Given the description of an element on the screen output the (x, y) to click on. 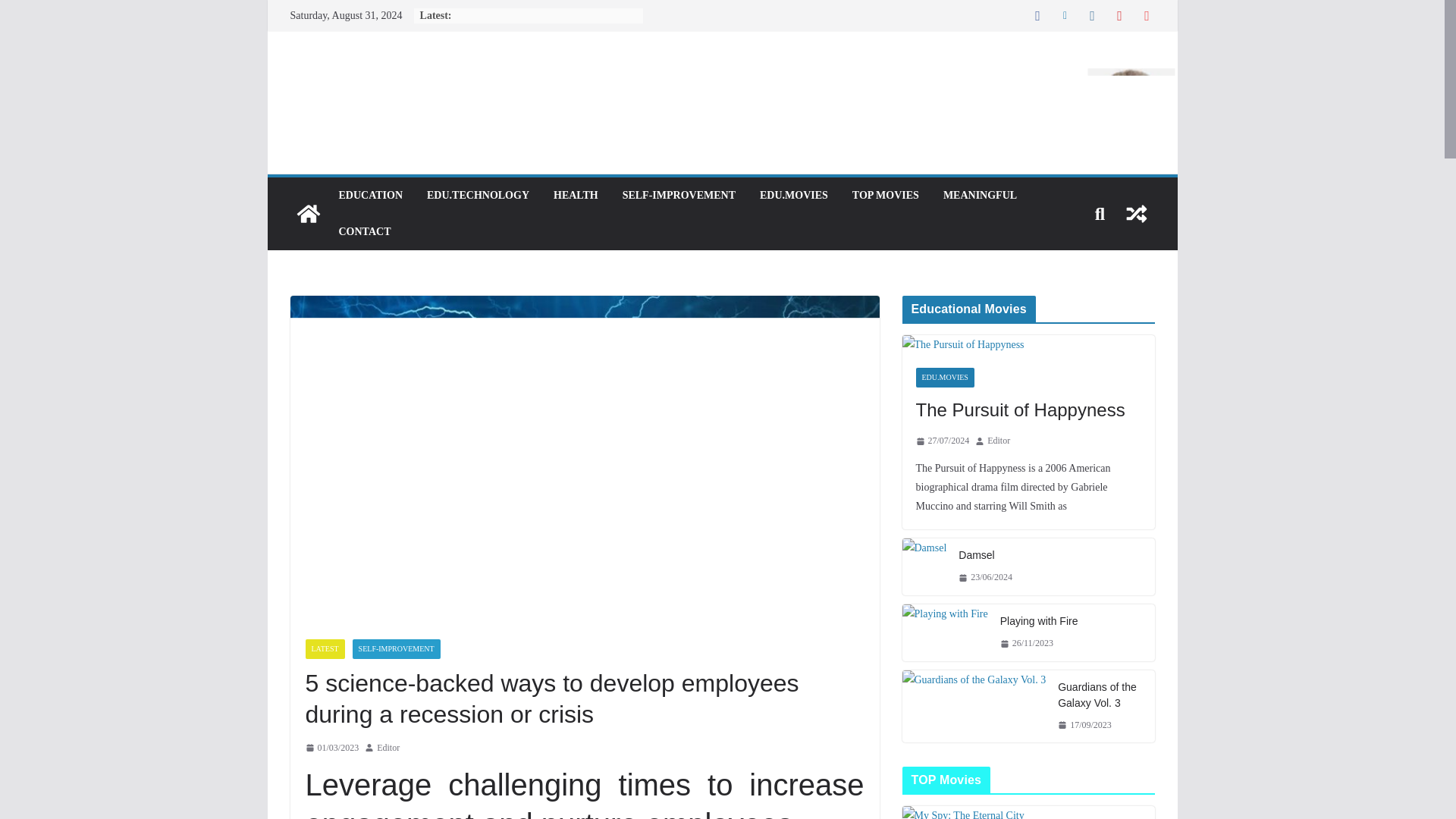
Editor (387, 748)
11:18 (331, 748)
SELF-IMPROVEMENT (396, 648)
View a random post (1136, 213)
4Education.ORG (307, 213)
SELF-IMPROVEMENT (679, 195)
LATEST (323, 648)
Download This Theme (370, 195)
EDUCATION (370, 195)
EDU.MOVIES (794, 195)
